Given the description of an element on the screen output the (x, y) to click on. 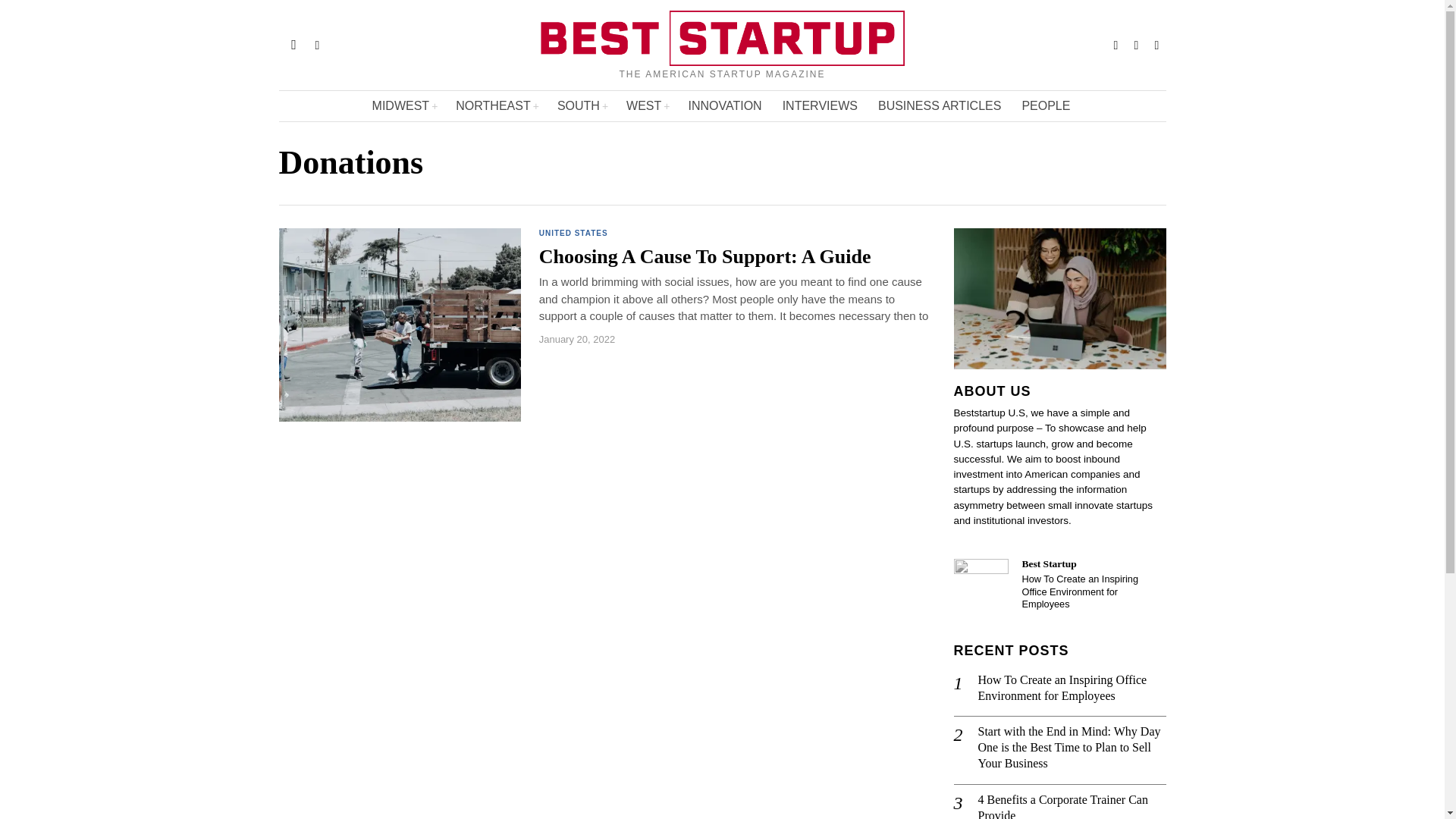
SOUTH (582, 105)
NORTHEAST (497, 105)
20 Jan, 2022 19:11:19 (576, 339)
Best Startup (981, 585)
MIDWEST (404, 105)
